Given the description of an element on the screen output the (x, y) to click on. 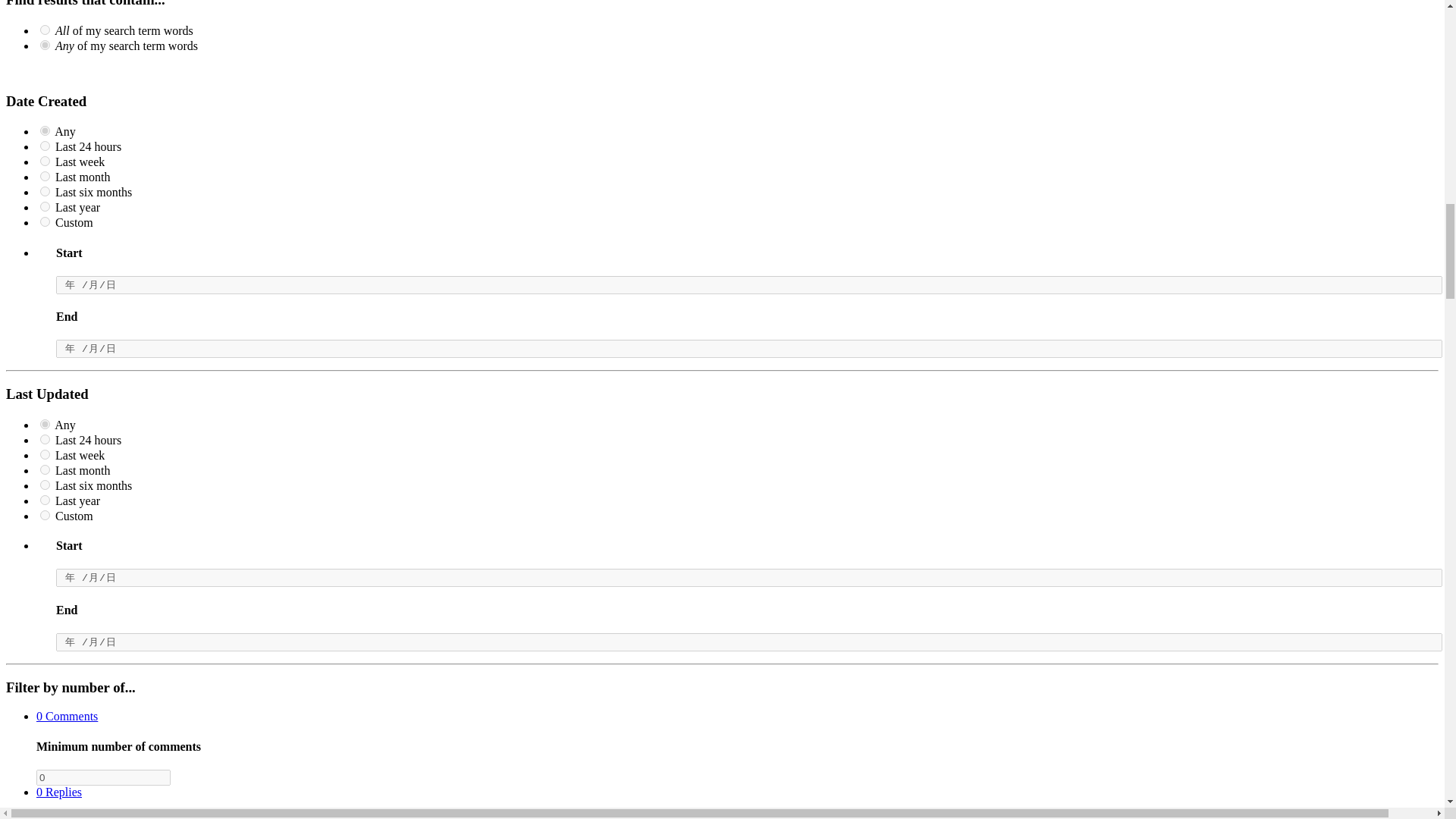
week (44, 161)
day (44, 145)
0 Replies (58, 791)
and (44, 30)
any (44, 130)
0 Comments (66, 716)
or (44, 44)
